Given the description of an element on the screen output the (x, y) to click on. 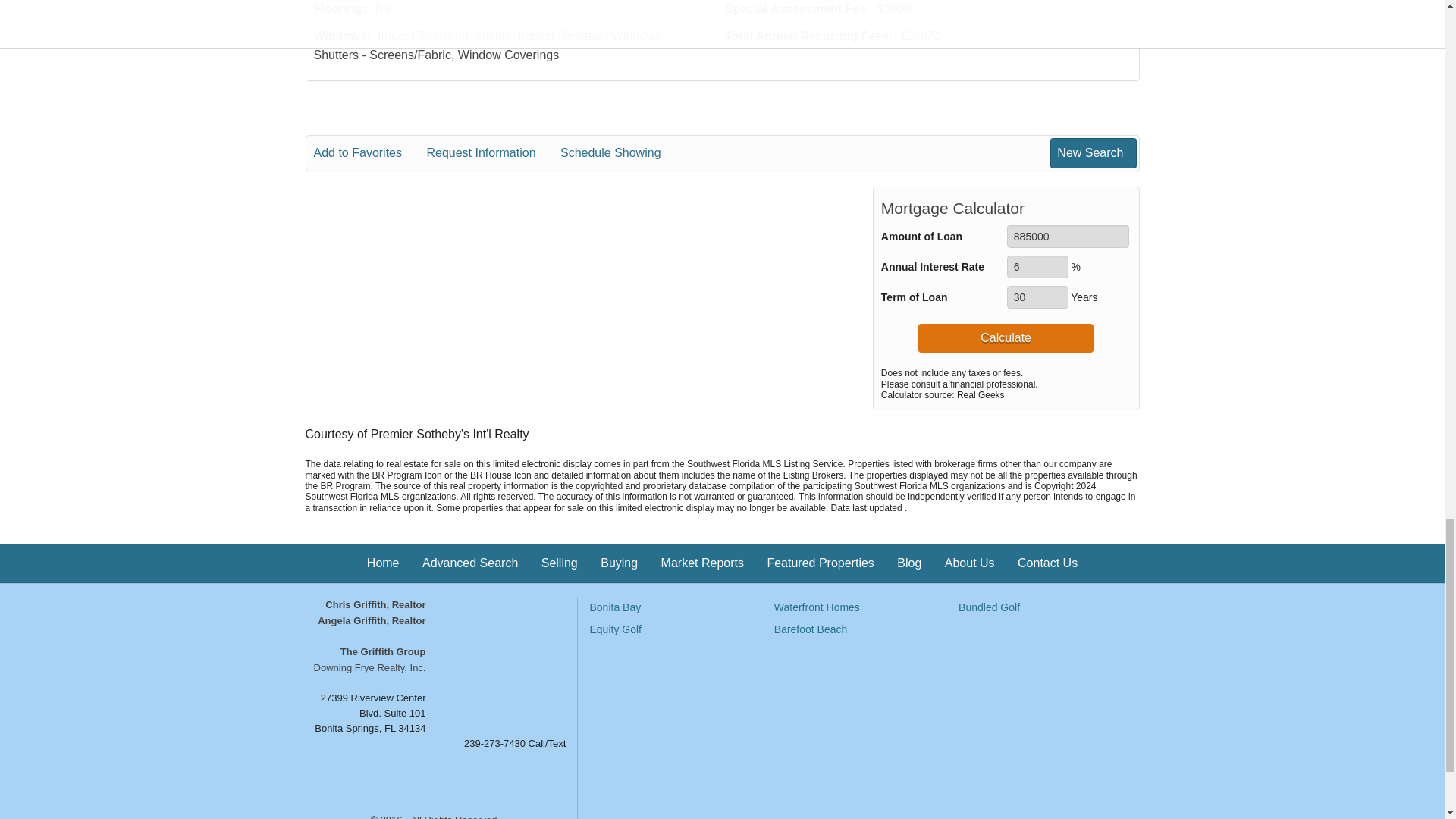
885000 (1068, 236)
30 (1037, 296)
6 (1037, 266)
